Given the description of an element on the screen output the (x, y) to click on. 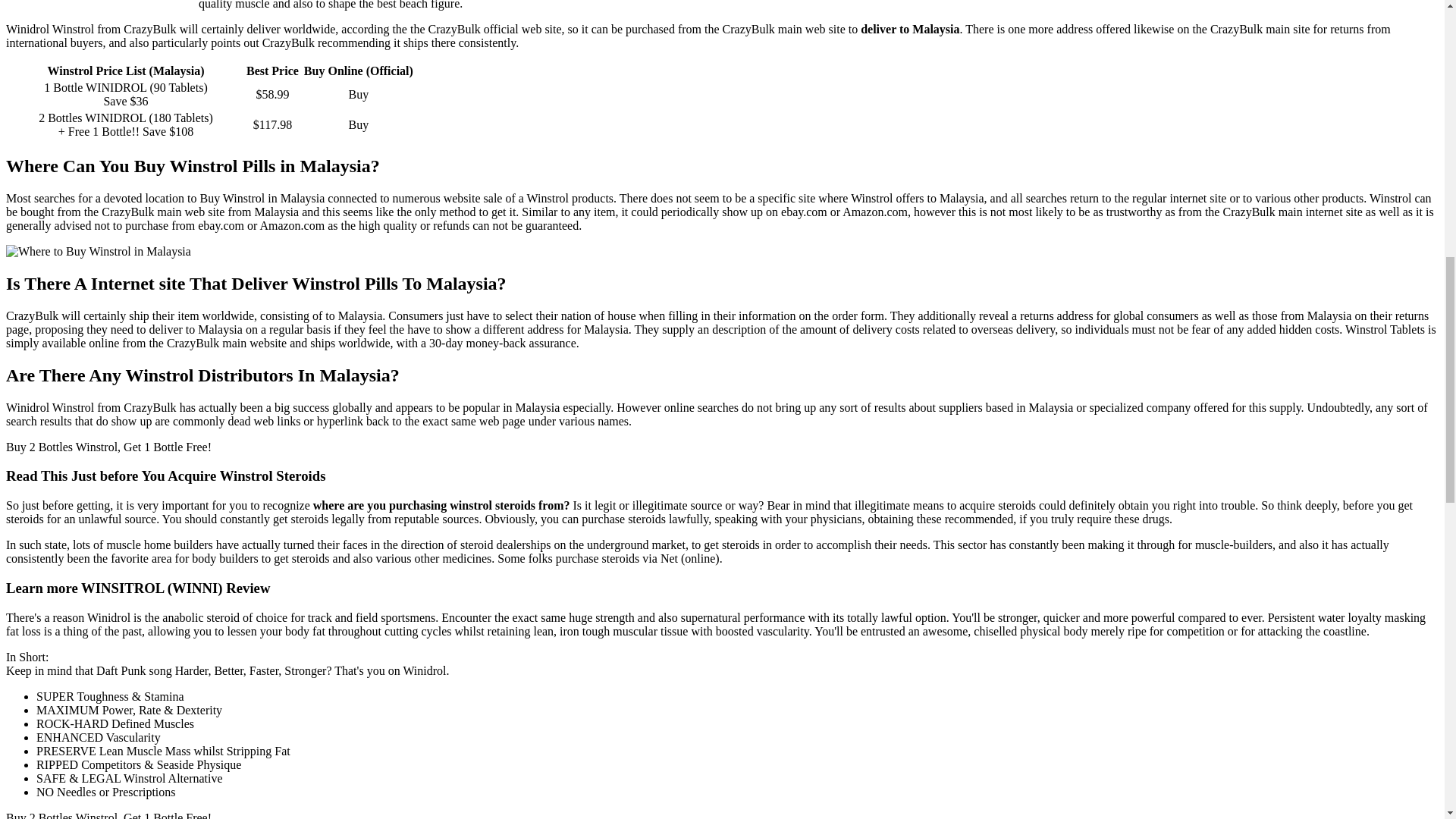
Where to Buy Winstrol in Malaysia (97, 251)
